Given the description of an element on the screen output the (x, y) to click on. 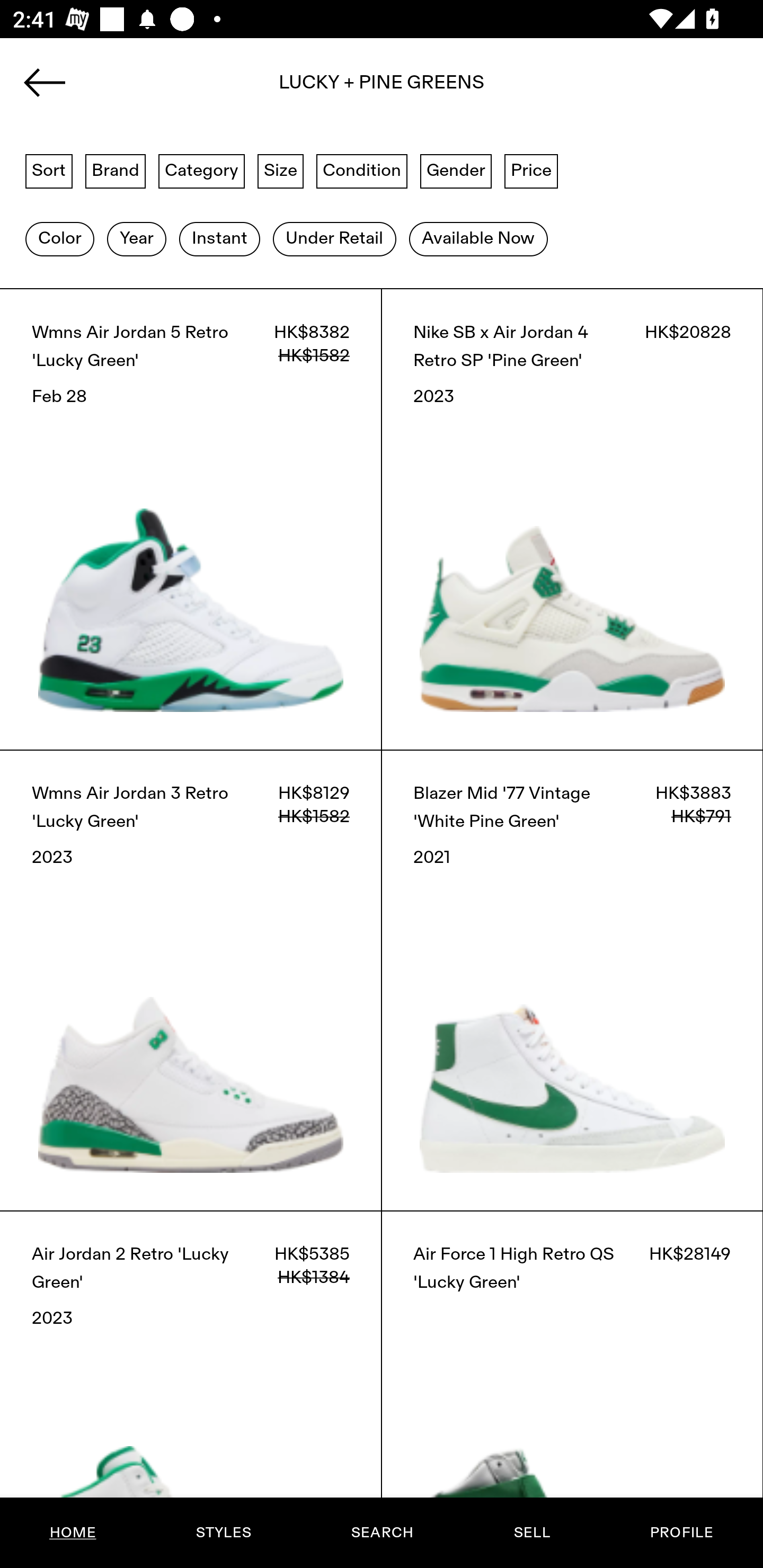
Search (381, 88)
Sort (48, 170)
Brand (115, 170)
Category (201, 170)
Size (280, 170)
Condition (361, 170)
Gender (455, 170)
Price (530, 170)
Color (59, 239)
Year (136, 239)
Instant (219, 239)
Under Retail (334, 239)
Available Now (477, 239)
Air Force 1 High Retro QS 'Lucky Green' HK$28149 (572, 1389)
HOME (72, 1532)
STYLES (222, 1532)
SEARCH (381, 1532)
SELL (531, 1532)
PROFILE (681, 1532)
